Given the description of an element on the screen output the (x, y) to click on. 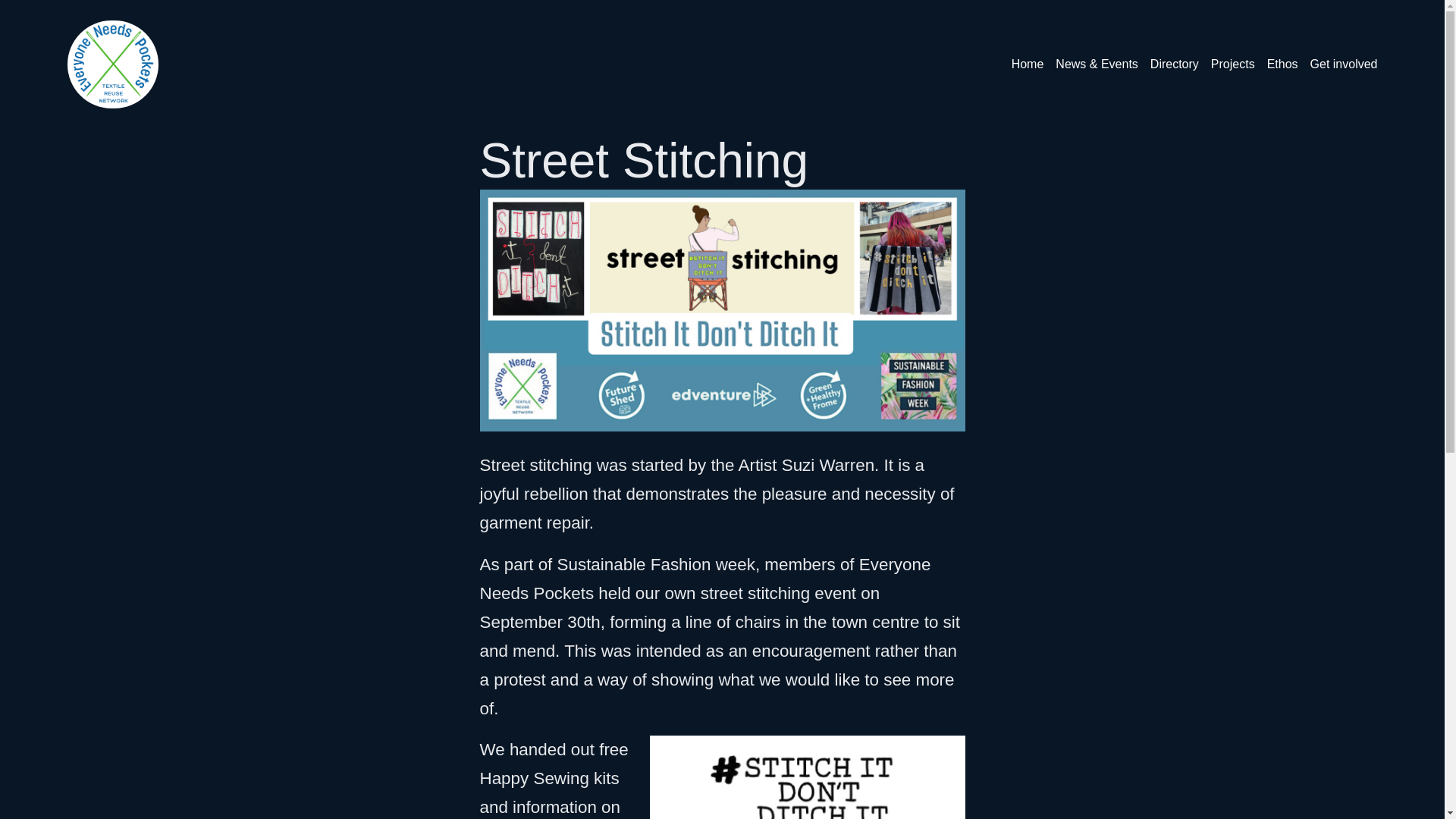
Ethos (1282, 64)
Projects (1233, 64)
Directory (1174, 64)
Home (1027, 64)
Get involved (1343, 64)
